Given the description of an element on the screen output the (x, y) to click on. 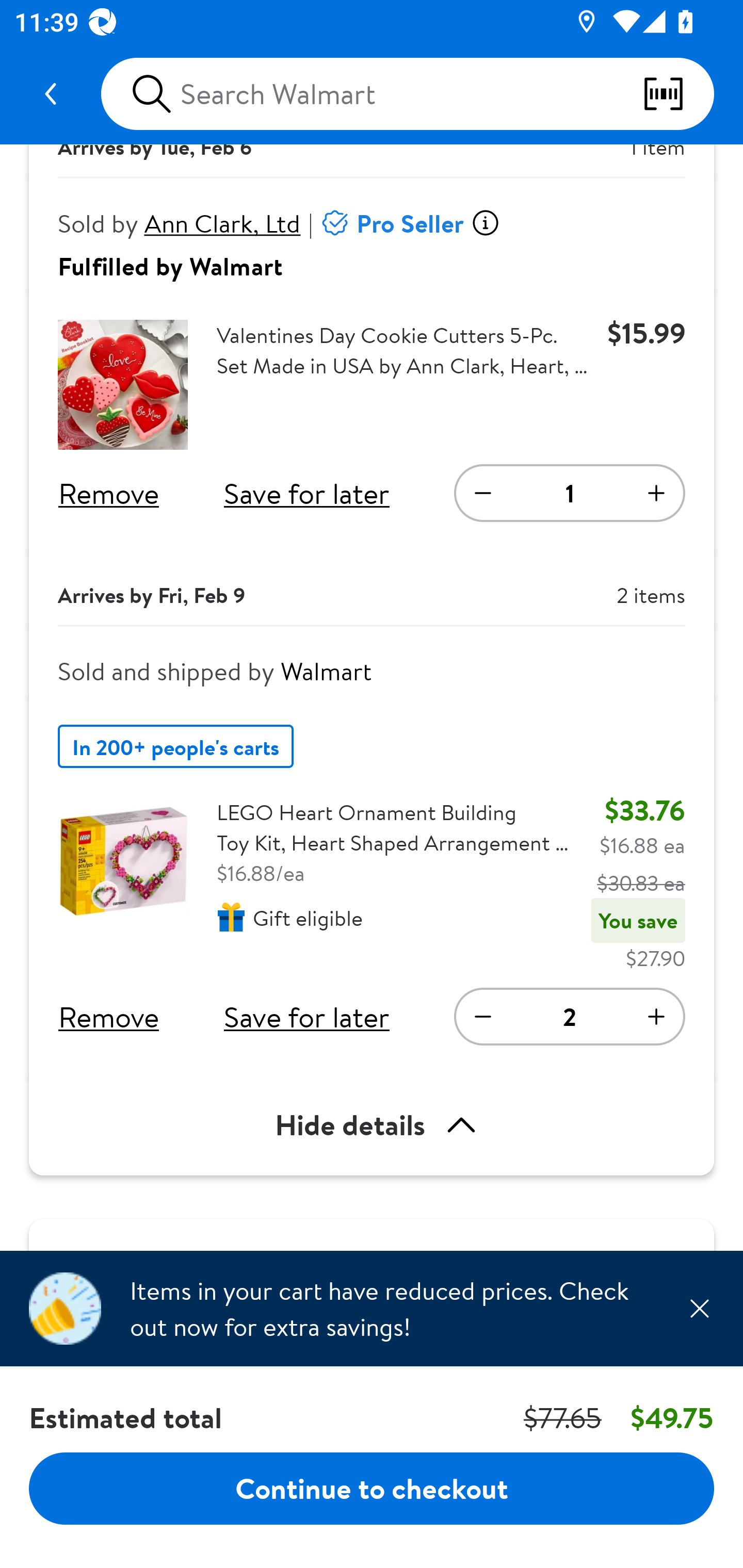
Navigate up (50, 93)
Search Walmart Opens barcode scanner (407, 94)
Opens barcode scanner (677, 94)
Sold by Ann Clark, Ltd (178, 223)
Info for Pro Seller (485, 222)
Item image (122, 384)
Item image (122, 861)
Hide details Expanded Hide details (371, 1125)
Close (699, 1308)
Continue to checkout (371, 1487)
